Given the description of an element on the screen output the (x, y) to click on. 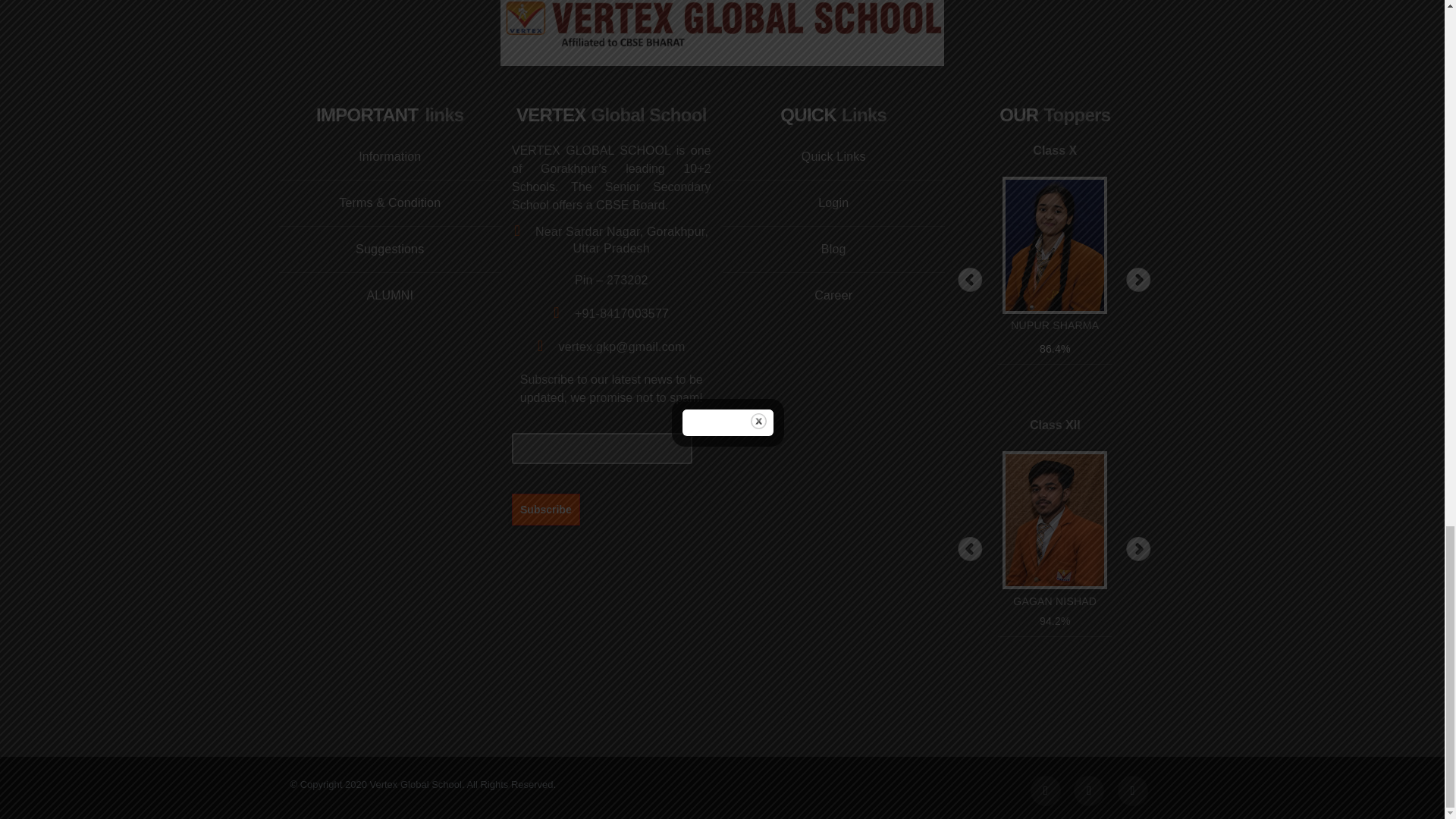
Subscribe (545, 508)
